Given the description of an element on the screen output the (x, y) to click on. 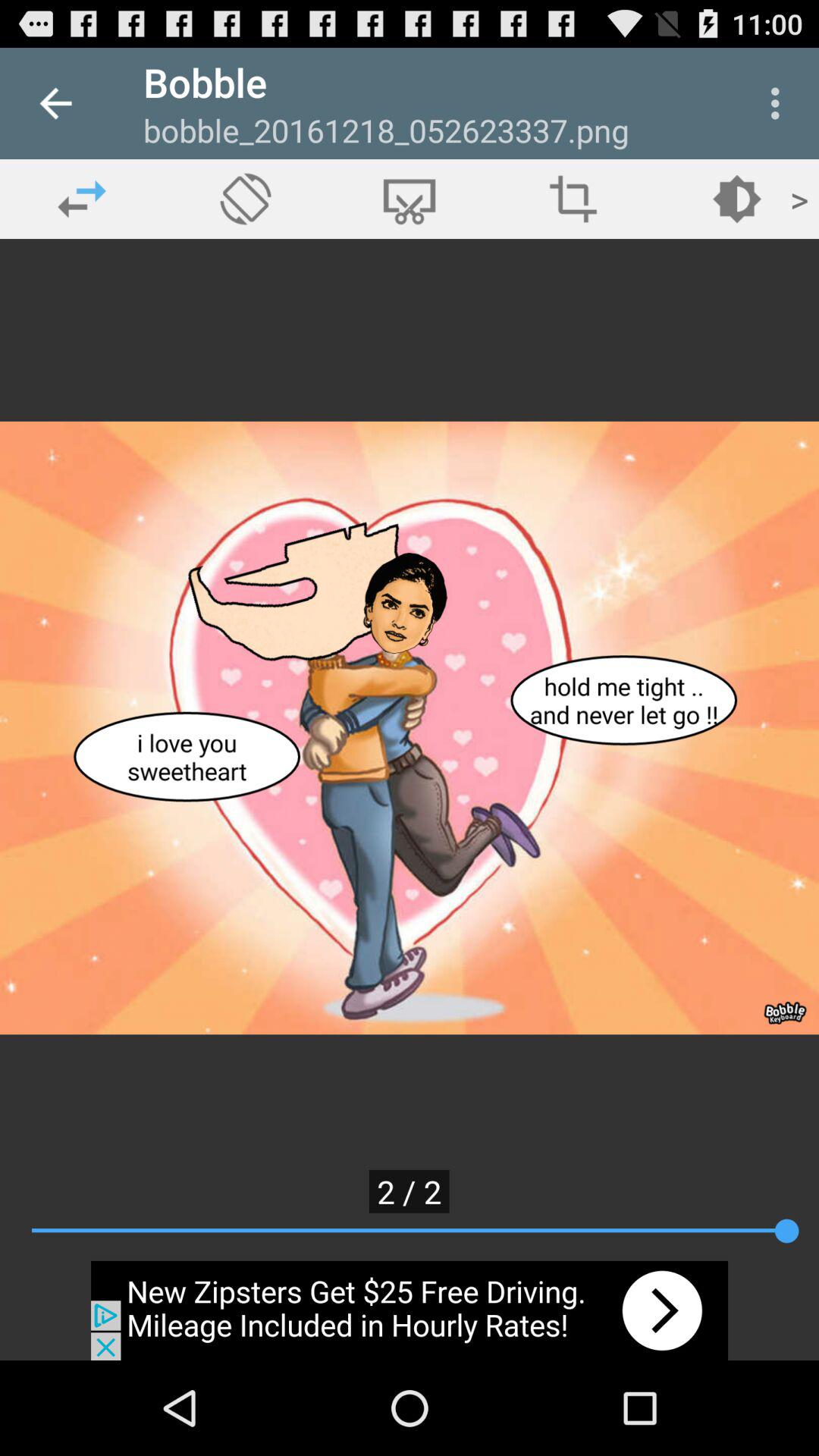
previous (81, 198)
